Given the description of an element on the screen output the (x, y) to click on. 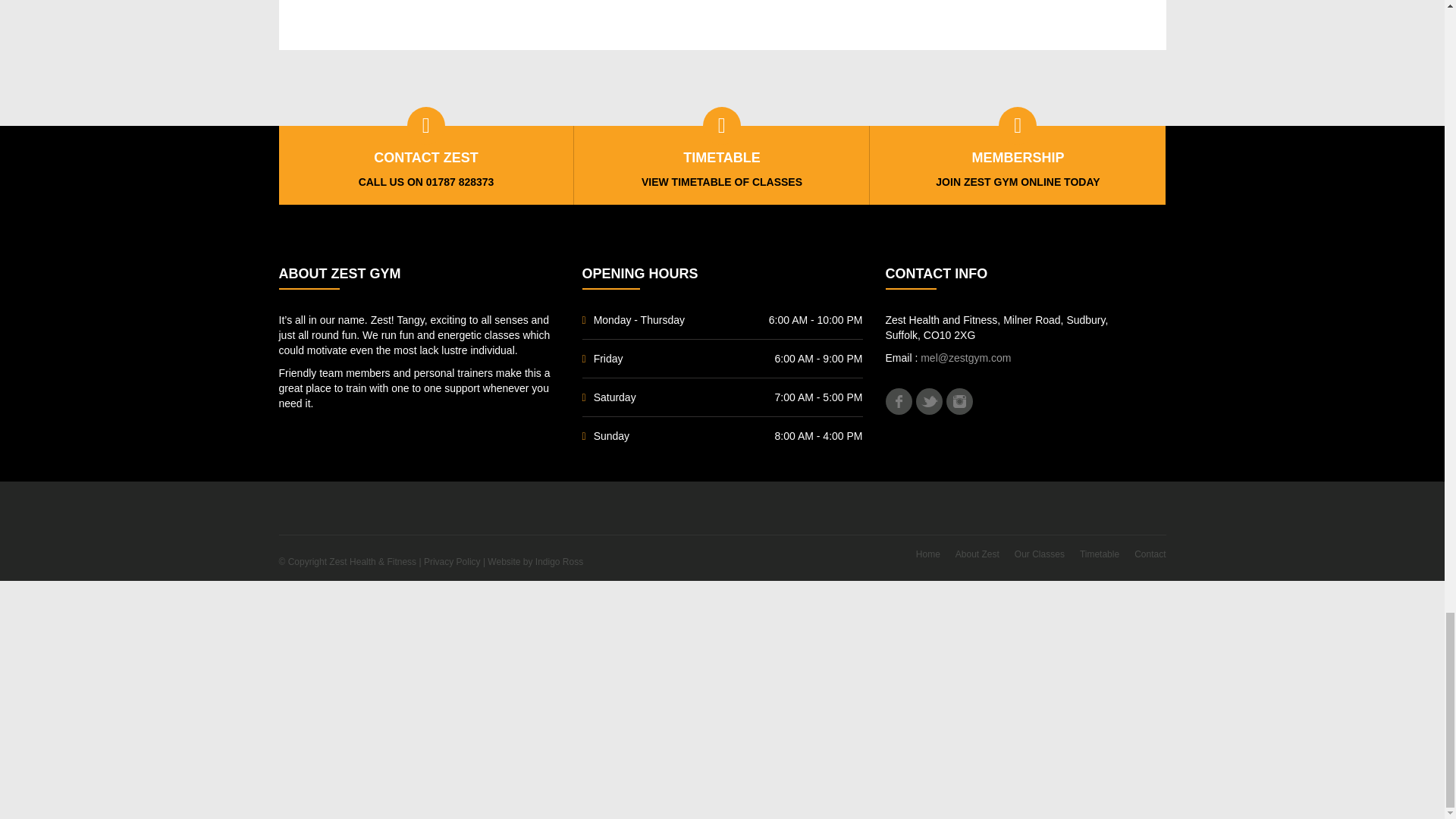
JOIN ZEST GYM ONLINE TODAY (1017, 182)
VIEW TIMETABLE OF CLASSES (722, 182)
Facebook (898, 401)
CALL US ON 01787 828373 (426, 182)
Twitter (928, 401)
